Given the description of an element on the screen output the (x, y) to click on. 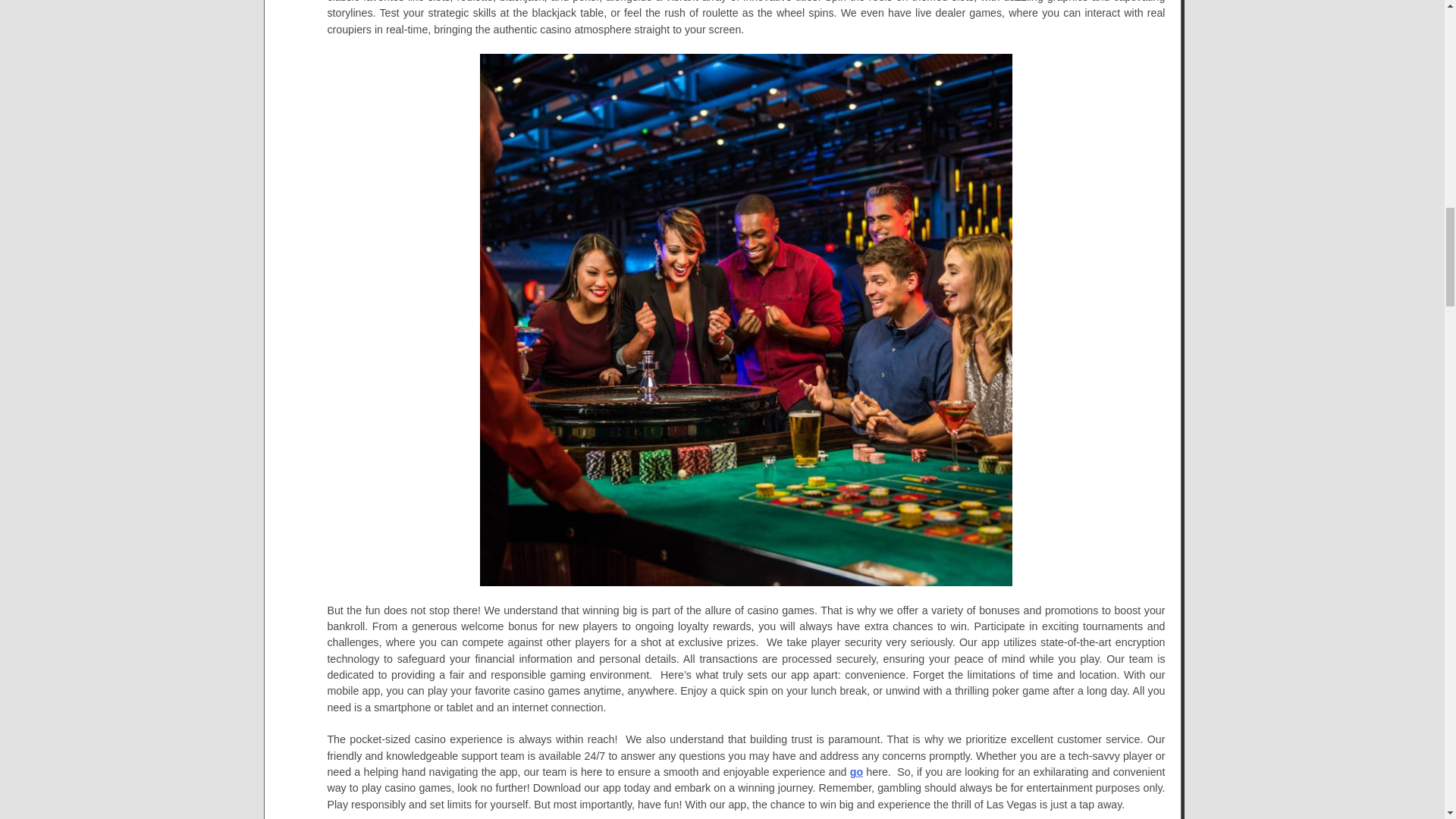
go (856, 771)
